Given the description of an element on the screen output the (x, y) to click on. 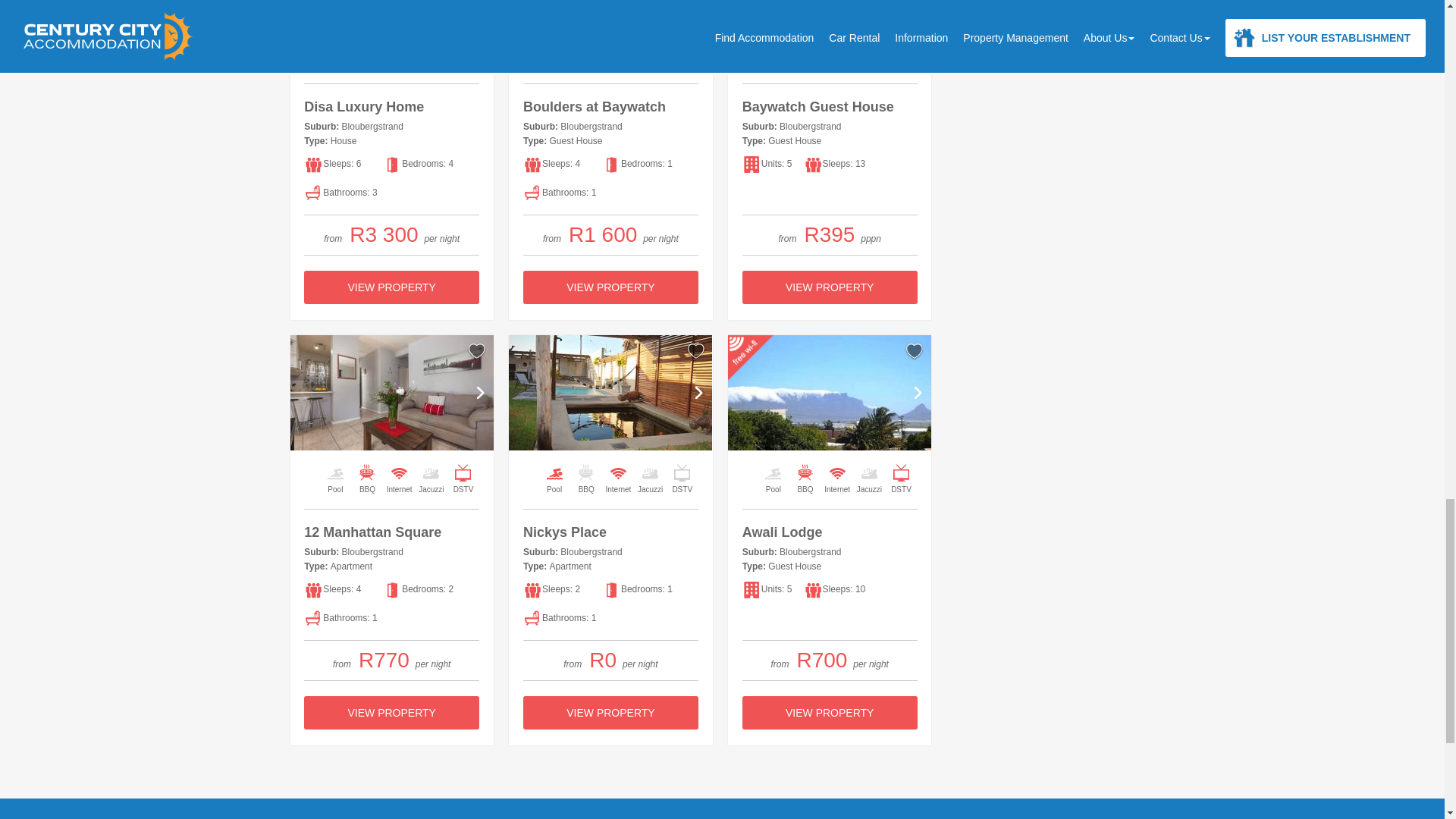
Jacuzzi (431, 47)
add to favourites (914, 351)
Swimming Pool (554, 47)
Internet Access (618, 47)
Jacuzzi (650, 47)
add to favourites (476, 351)
Jacuzzi (869, 47)
Internet Access (399, 47)
add to favourites (695, 351)
Swimming Pool (772, 47)
Internet Access (837, 47)
Swimming Pool (335, 47)
